Given the description of an element on the screen output the (x, y) to click on. 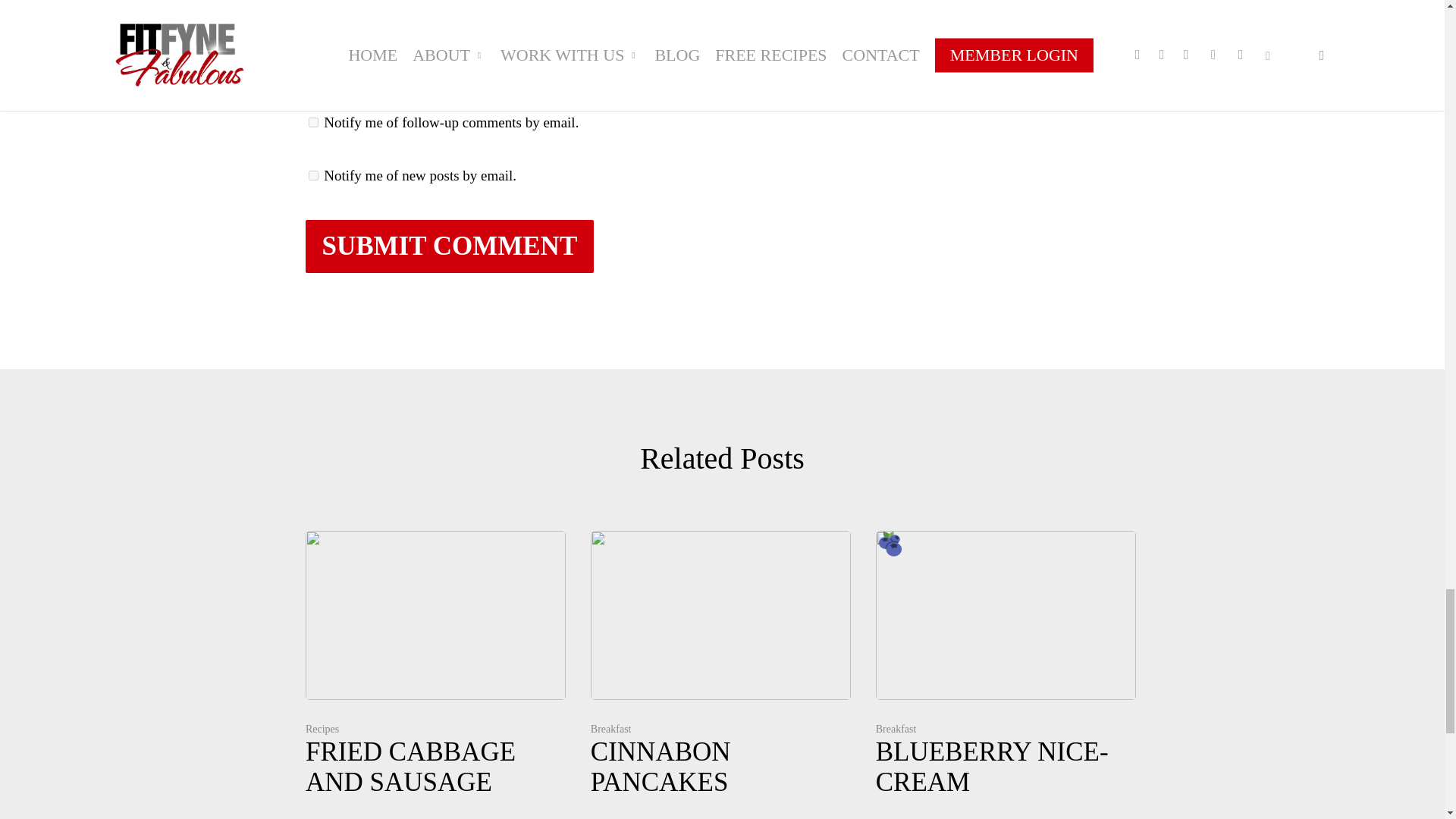
Submit Comment (449, 246)
subscribe (312, 122)
yes (312, 58)
subscribe (312, 175)
